Given the description of an element on the screen output the (x, y) to click on. 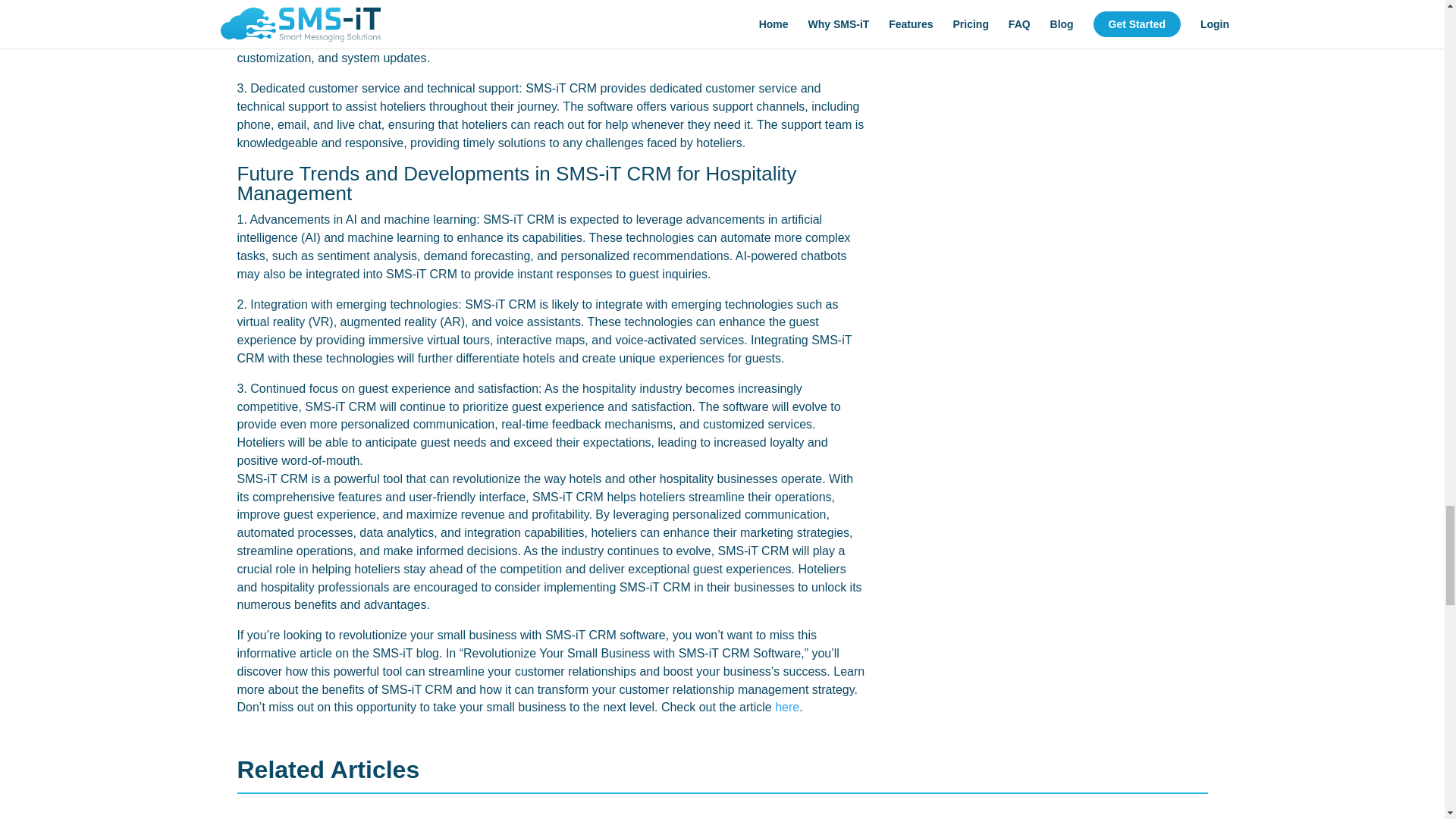
here (786, 707)
